Given the description of an element on the screen output the (x, y) to click on. 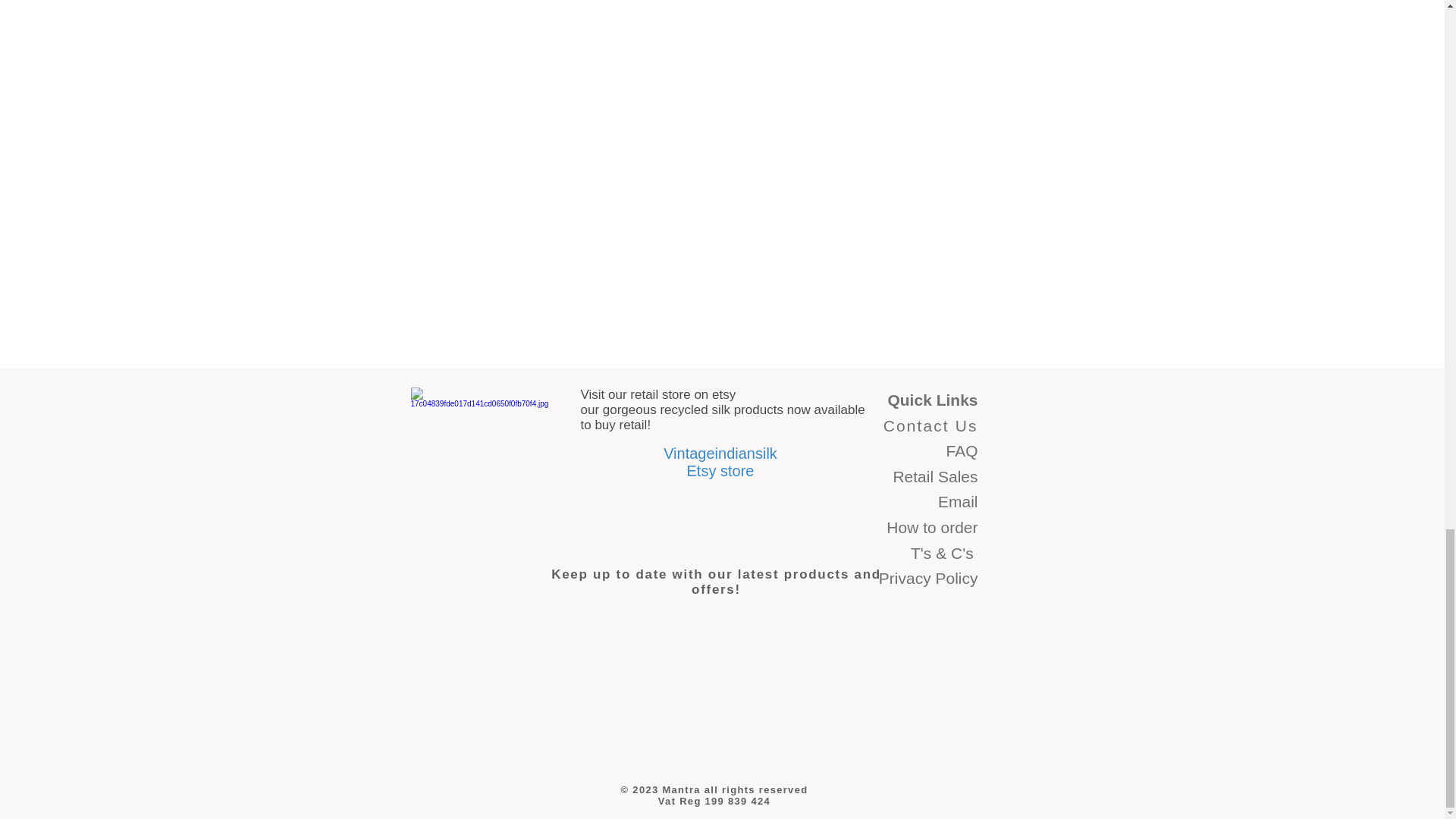
Visit our retail store on etsy (658, 394)
How to order (931, 527)
Retail Sales (934, 476)
FAQ (960, 450)
Contact Us (930, 425)
Vintageindiansilk (720, 453)
Facebook Like (439, 736)
Email (957, 501)
Privacy Policy (928, 578)
